Given the description of an element on the screen output the (x, y) to click on. 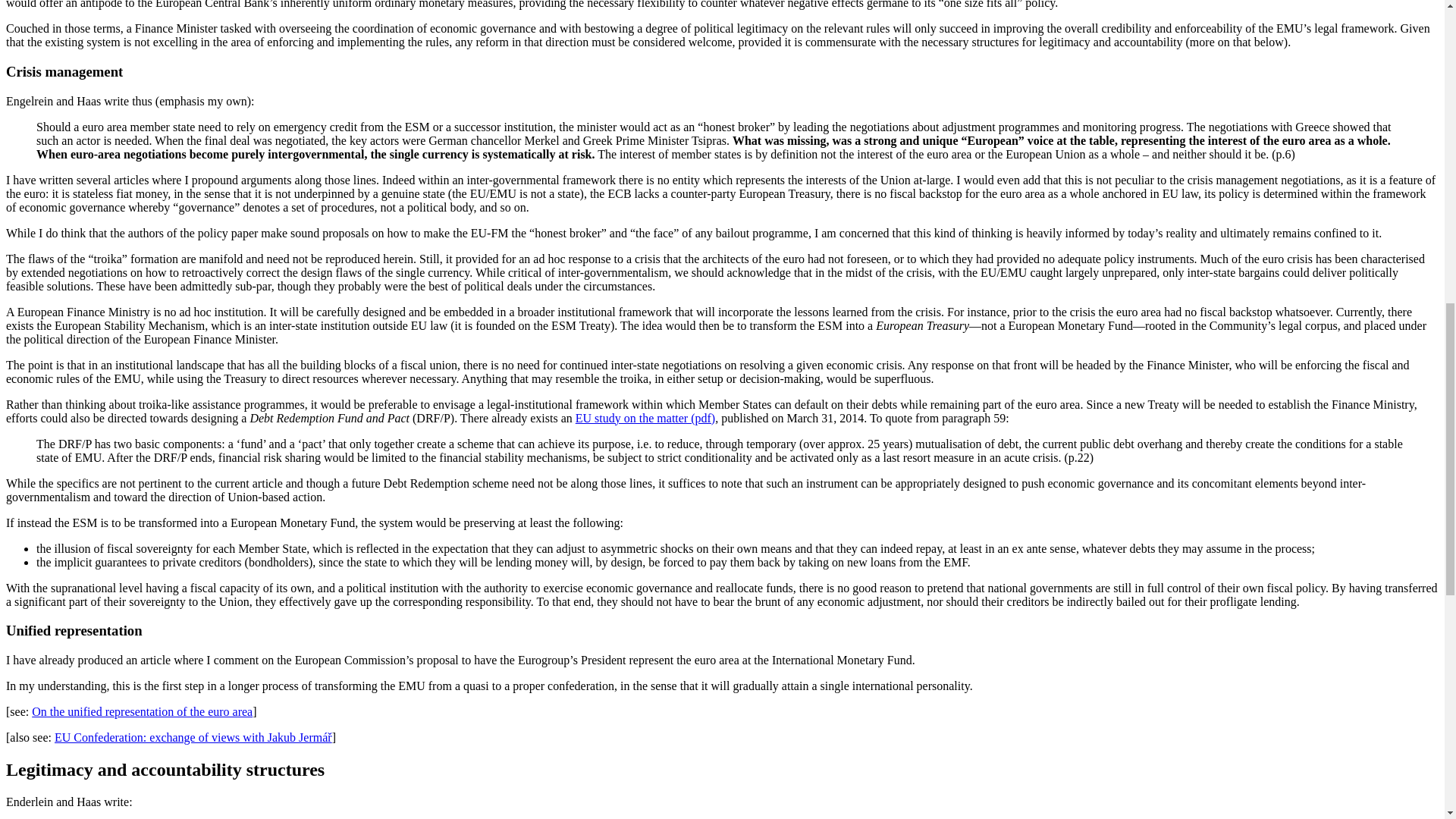
On the unified representation of the euro area (141, 711)
